Given the description of an element on the screen output the (x, y) to click on. 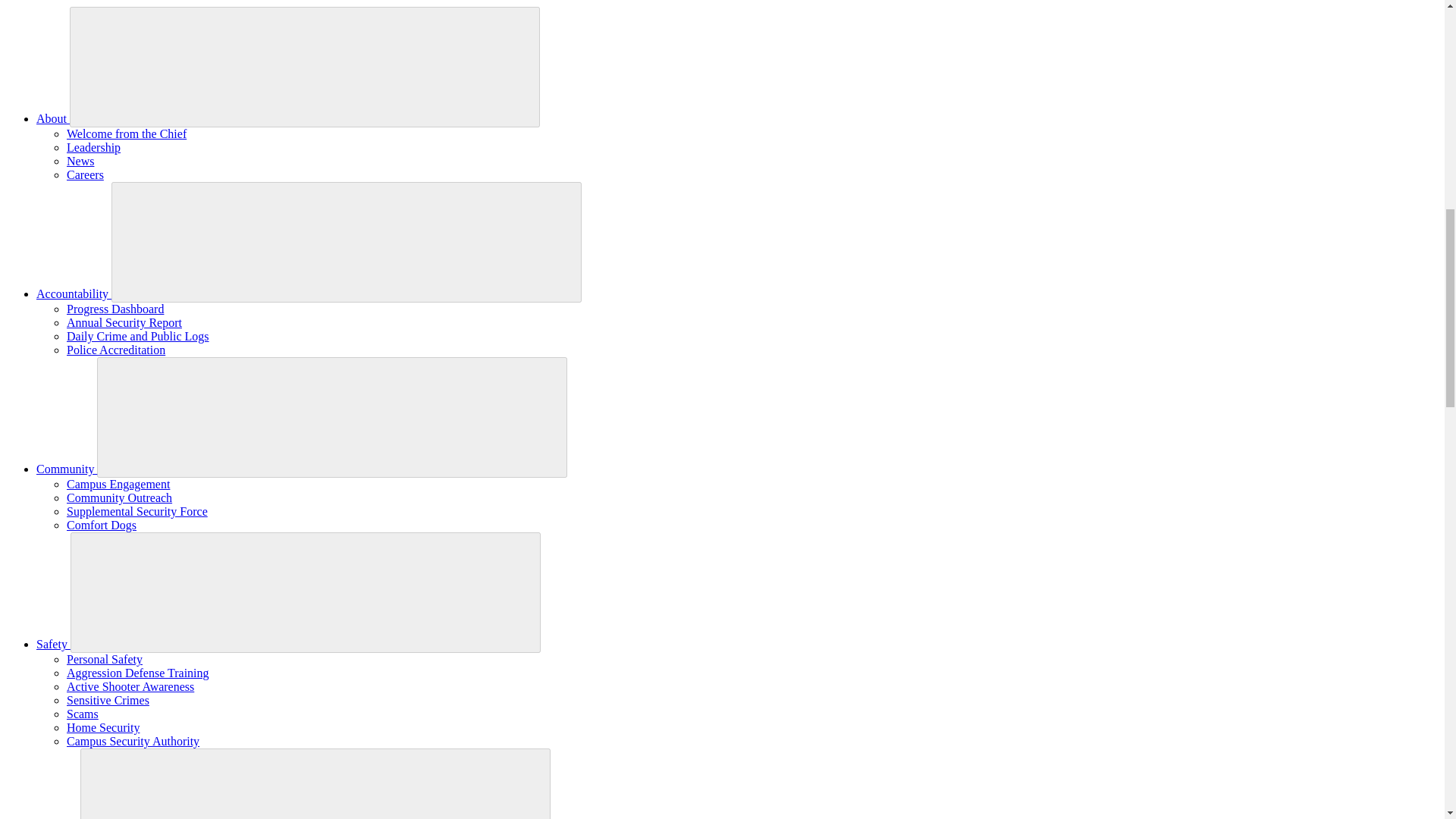
Scams (82, 713)
Active Shooter Awareness (129, 686)
News (80, 160)
Progress Dashboard (114, 308)
Sensitive Crimes (107, 699)
Leadership (93, 146)
Safety (52, 644)
Community Outreach (118, 497)
Annual Security Report (124, 322)
Campus Security Authority (132, 740)
